Given the description of an element on the screen output the (x, y) to click on. 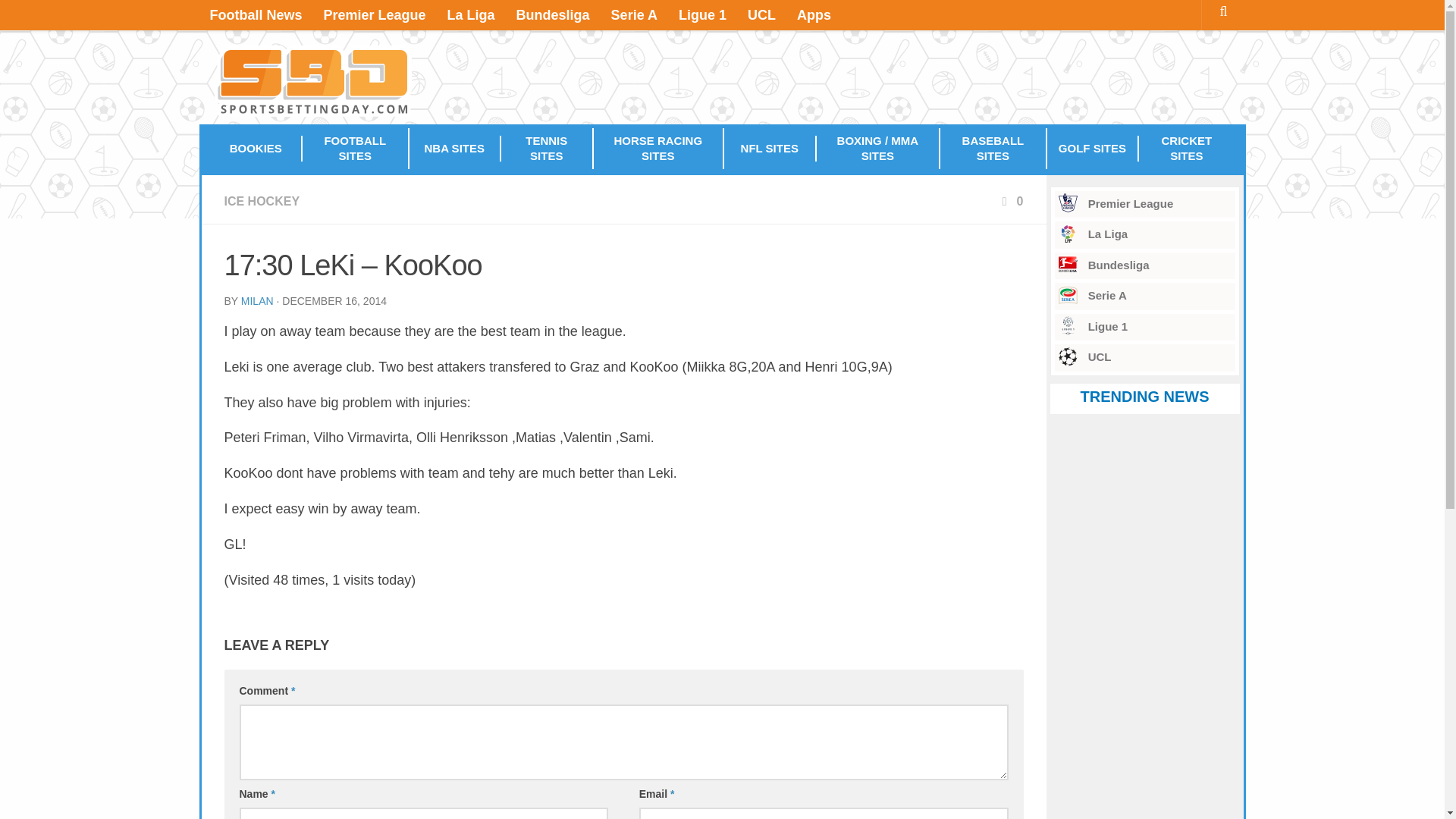
HORSE RACING SITES (657, 147)
BASEBALL SITES (993, 147)
Bundesliga (552, 15)
0 (1010, 201)
TENNIS SITES (547, 147)
Premier League (374, 15)
CRICKET SITES (1185, 147)
FOOTBALL SITES (355, 147)
Bundesliga (1144, 266)
La Liga (470, 15)
MILAN (257, 300)
BOOKIES (256, 148)
Premier League (1144, 204)
Ligue 1 (1144, 327)
Ligue 1 (702, 15)
